Given the description of an element on the screen output the (x, y) to click on. 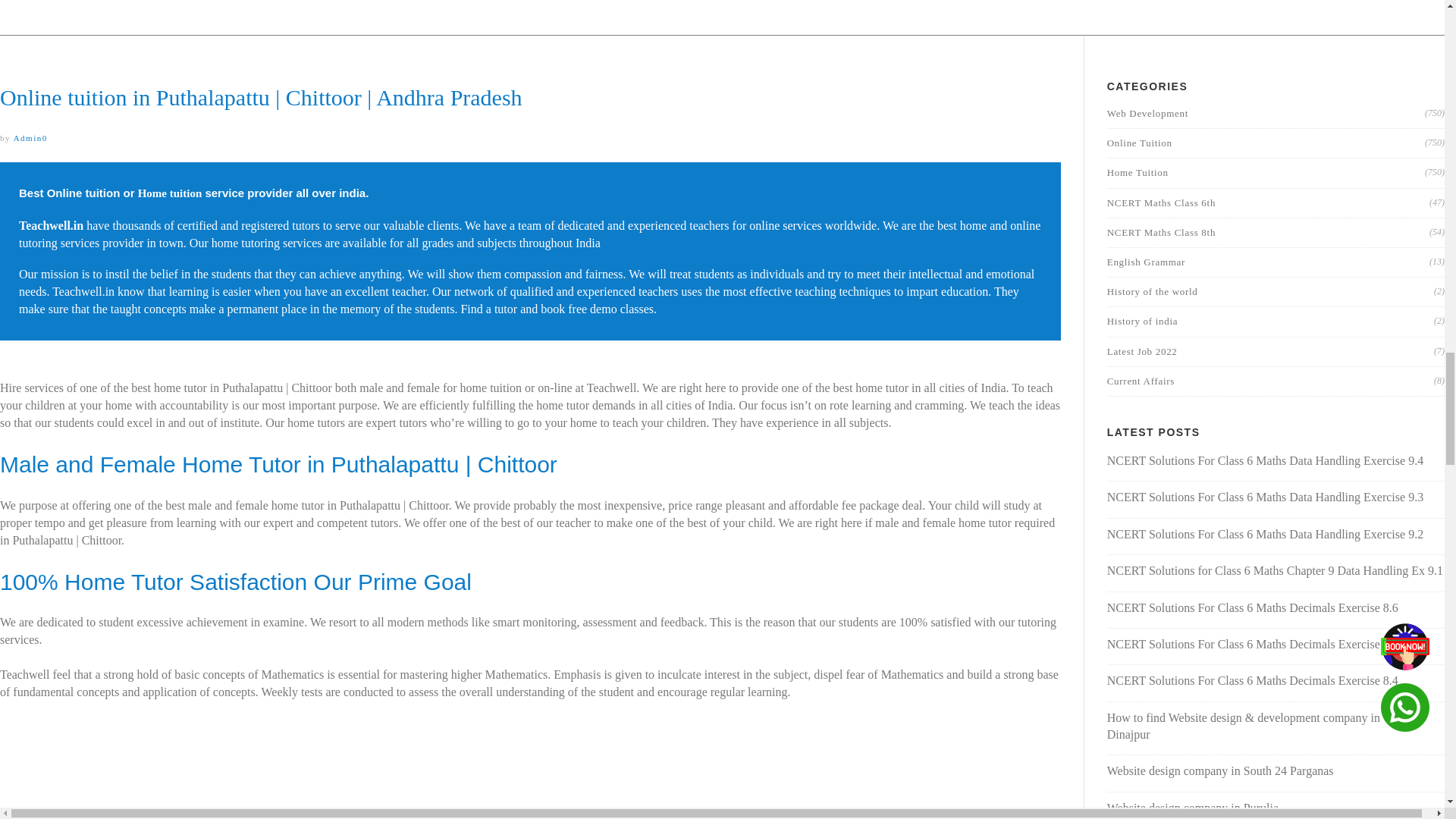
Teachwell.in (50, 225)
Home tuition (170, 193)
NCERT Solutions For Class 6 Maths Data Handling Exercise 9.2 (1264, 533)
NCERT Solutions For Class 6 Maths Data Handling Exercise 9.3 (1264, 496)
Admin0 (30, 137)
NCERT Solutions For Class 6 Maths Data Handling Exercise 9.4 (1264, 460)
NCERT Solutions For Class 6 Maths Decimals Exercise 8.5 (1251, 644)
NCERT Solutions For Class 6 Maths Decimals Exercise 8.6 (1251, 607)
